Given the description of an element on the screen output the (x, y) to click on. 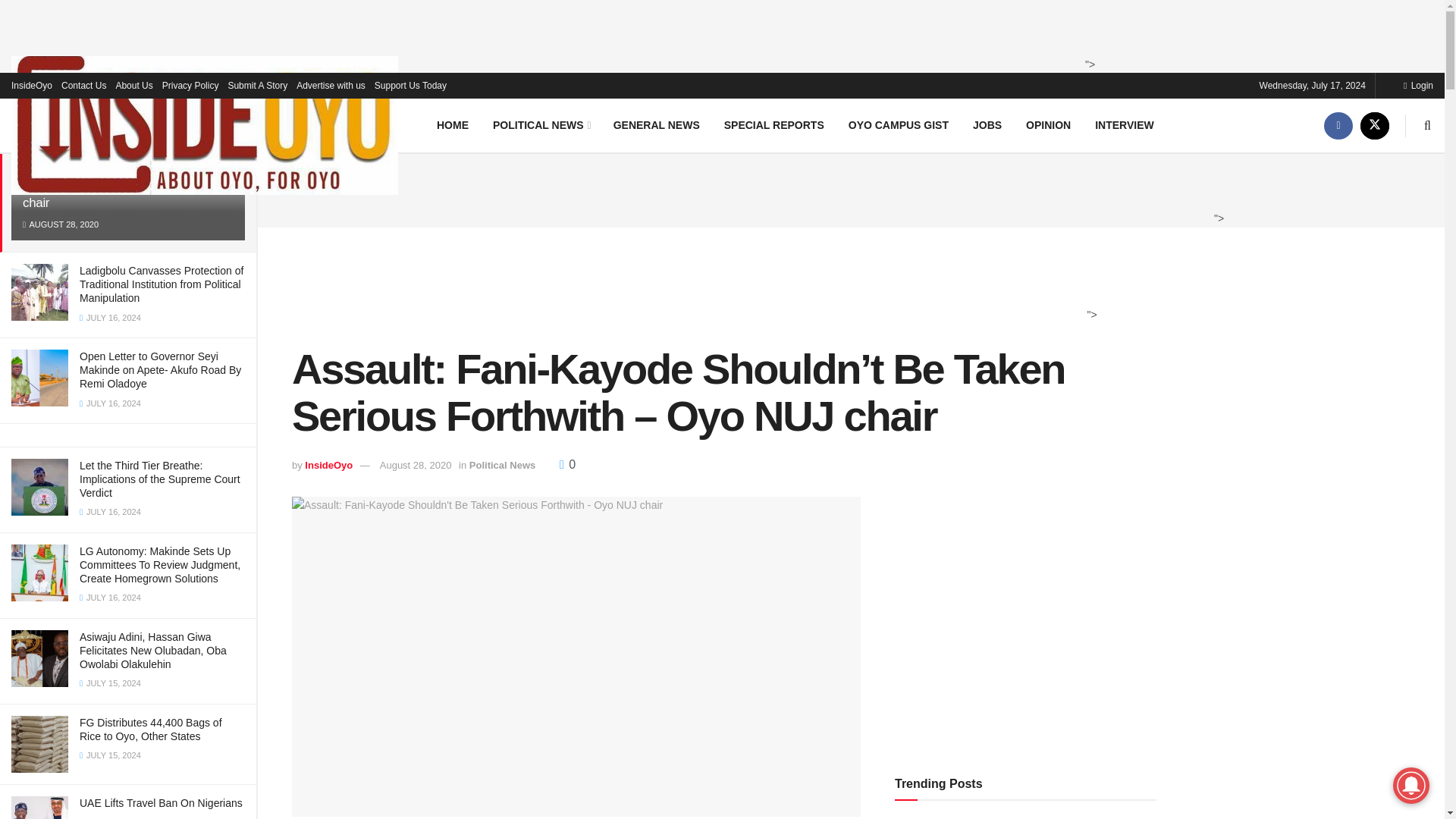
UAE Lifts Travel Ban On Nigerians (161, 802)
Privacy Policy (190, 85)
Support Us Today (410, 85)
Advertisement (716, 33)
POLITICAL NEWS (540, 125)
Login (1417, 85)
Filter (227, 96)
HOME (452, 125)
Advertise with us (331, 85)
Contact Us (83, 85)
Advertisement (846, 187)
